Given the description of an element on the screen output the (x, y) to click on. 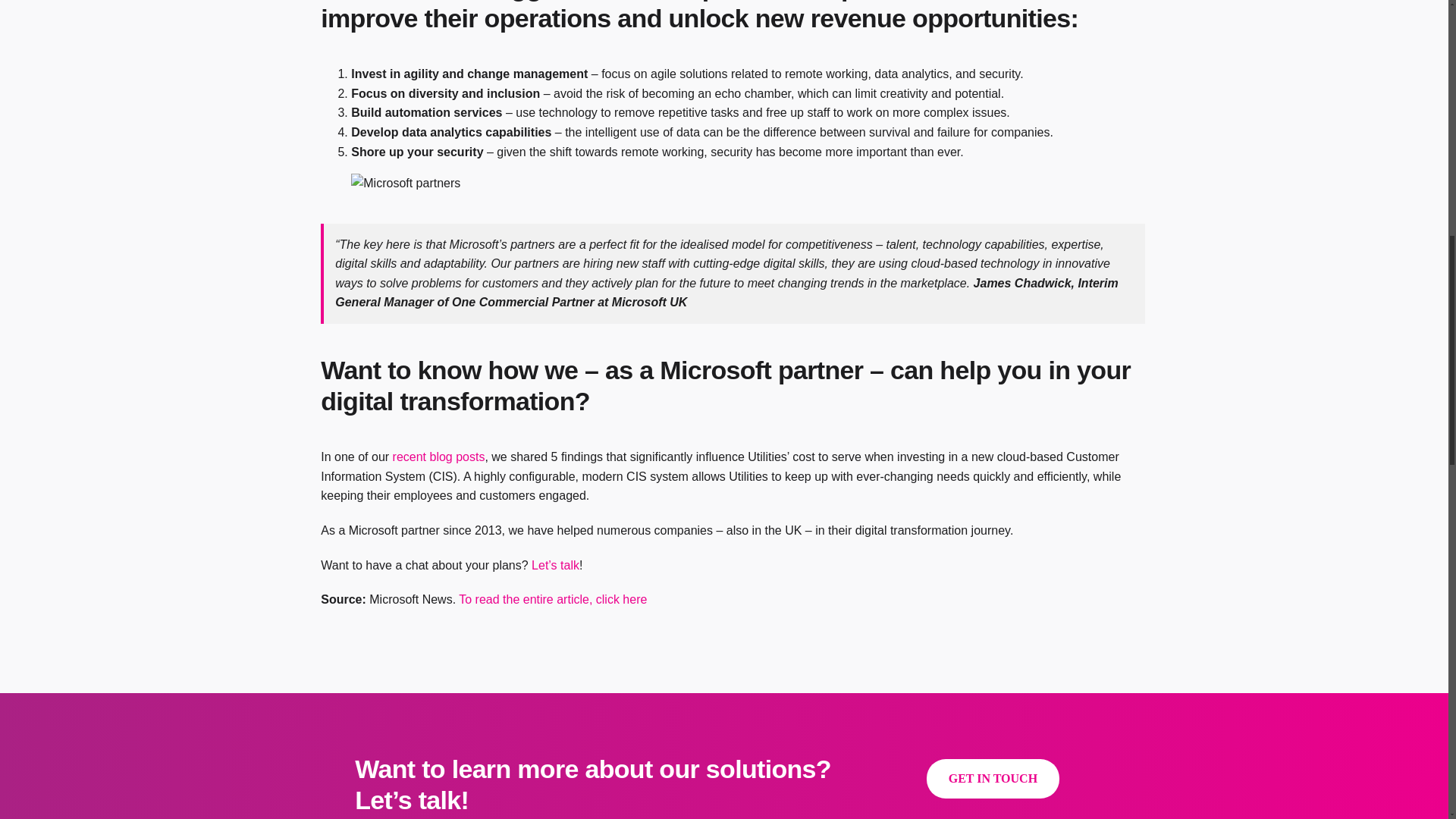
To read the entire article, click here (552, 599)
recent blog posts (438, 456)
